Given the description of an element on the screen output the (x, y) to click on. 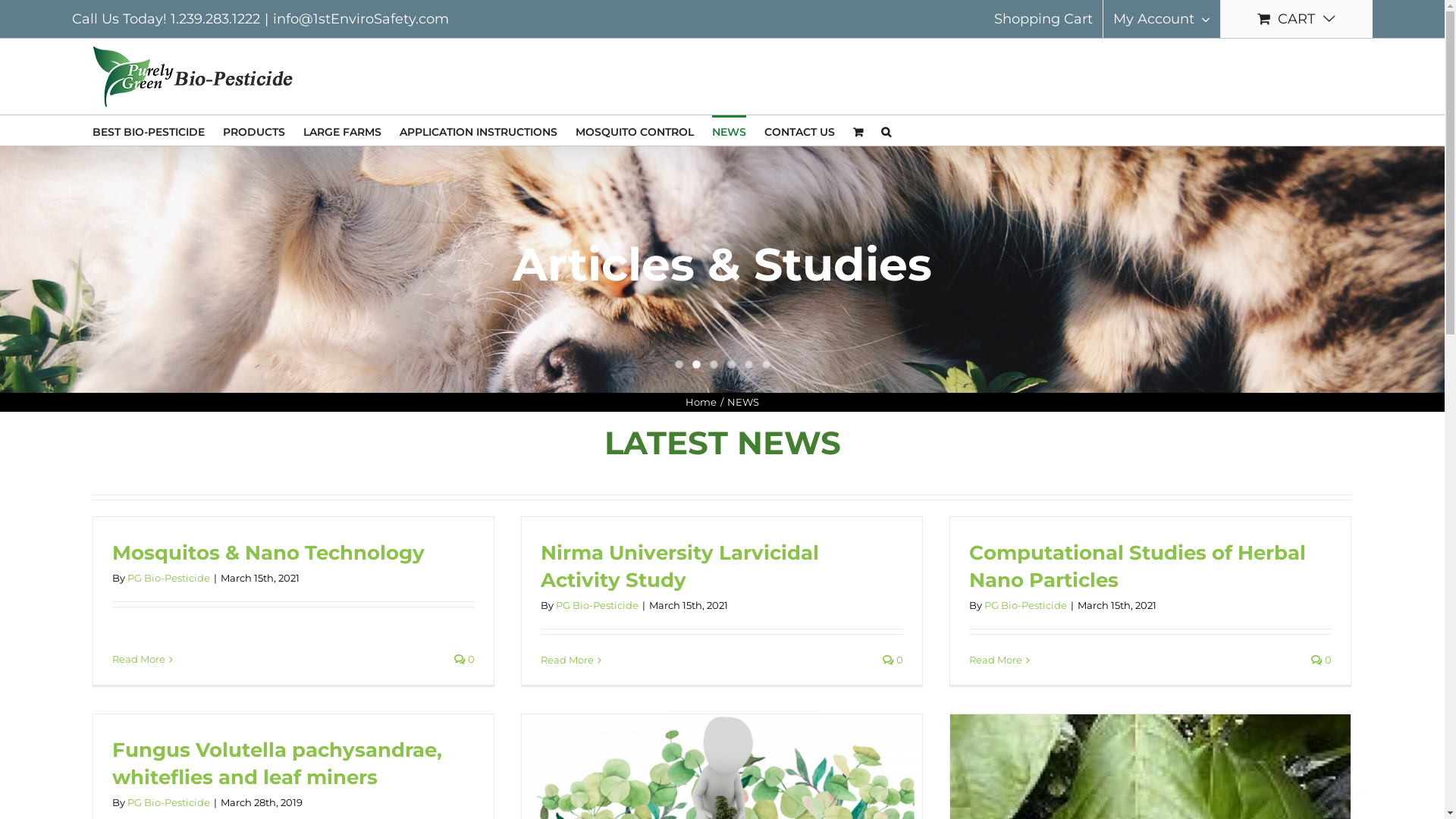
Fungus Volutella pachysandrae, whiteflies and leaf miners Element type: text (277, 763)
APPLICATION INSTRUCTIONS Element type: text (478, 130)
Shopping Cart Element type: text (1043, 18)
1 Element type: text (678, 364)
Read More Element type: text (138, 658)
CART Element type: text (1296, 18)
PG Bio-Pesticide Element type: text (168, 802)
 0 Element type: text (1321, 659)
Read More Element type: text (995, 659)
Nirma University Larvicidal Activity Study Element type: text (679, 566)
Read More Element type: text (566, 659)
MOSQUITO CONTROL Element type: text (634, 130)
4 Element type: text (730, 364)
NEWS Element type: text (729, 130)
PG Bio-Pesticide Element type: text (1025, 605)
PG Bio-Pesticide Element type: text (596, 605)
 0 Element type: text (892, 659)
 0 Element type: text (464, 658)
Computational Studies of Herbal Nano Particles Element type: text (1137, 566)
2 Element type: text (695, 364)
Home Element type: text (700, 401)
Log In Element type: text (1207, 162)
BEST BIO-PESTICIDE Element type: text (148, 130)
PG Bio-Pesticide Element type: text (168, 577)
My Account Element type: text (1161, 18)
PRODUCTS Element type: text (253, 130)
info@1stEnviroSafety.com Element type: text (360, 18)
3 Element type: text (713, 364)
5 Element type: text (748, 364)
Search Element type: hover (886, 130)
CONTACT US Element type: text (799, 130)
LARGE FARMS Element type: text (342, 130)
6 Element type: text (765, 364)
Mosquitos & Nano Technology Element type: text (268, 552)
